Given the description of an element on the screen output the (x, y) to click on. 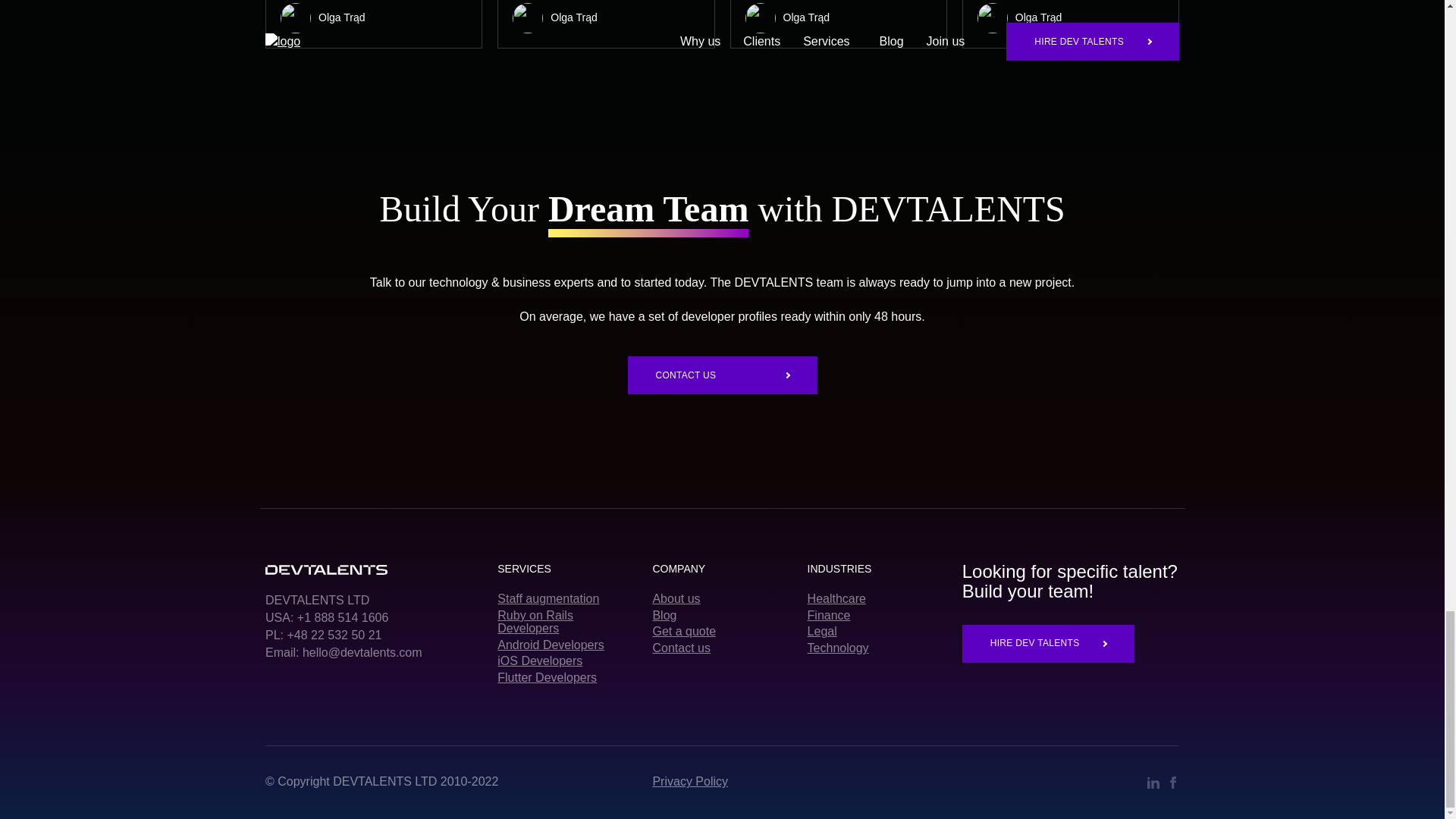
Continue reading (1070, 24)
CONTACT US (721, 374)
Android Developers (567, 644)
Ruby on Rails Developers (567, 622)
Continue reading (837, 24)
Continue reading (605, 24)
Continue reading (372, 24)
Staff augmentation (567, 599)
